Given the description of an element on the screen output the (x, y) to click on. 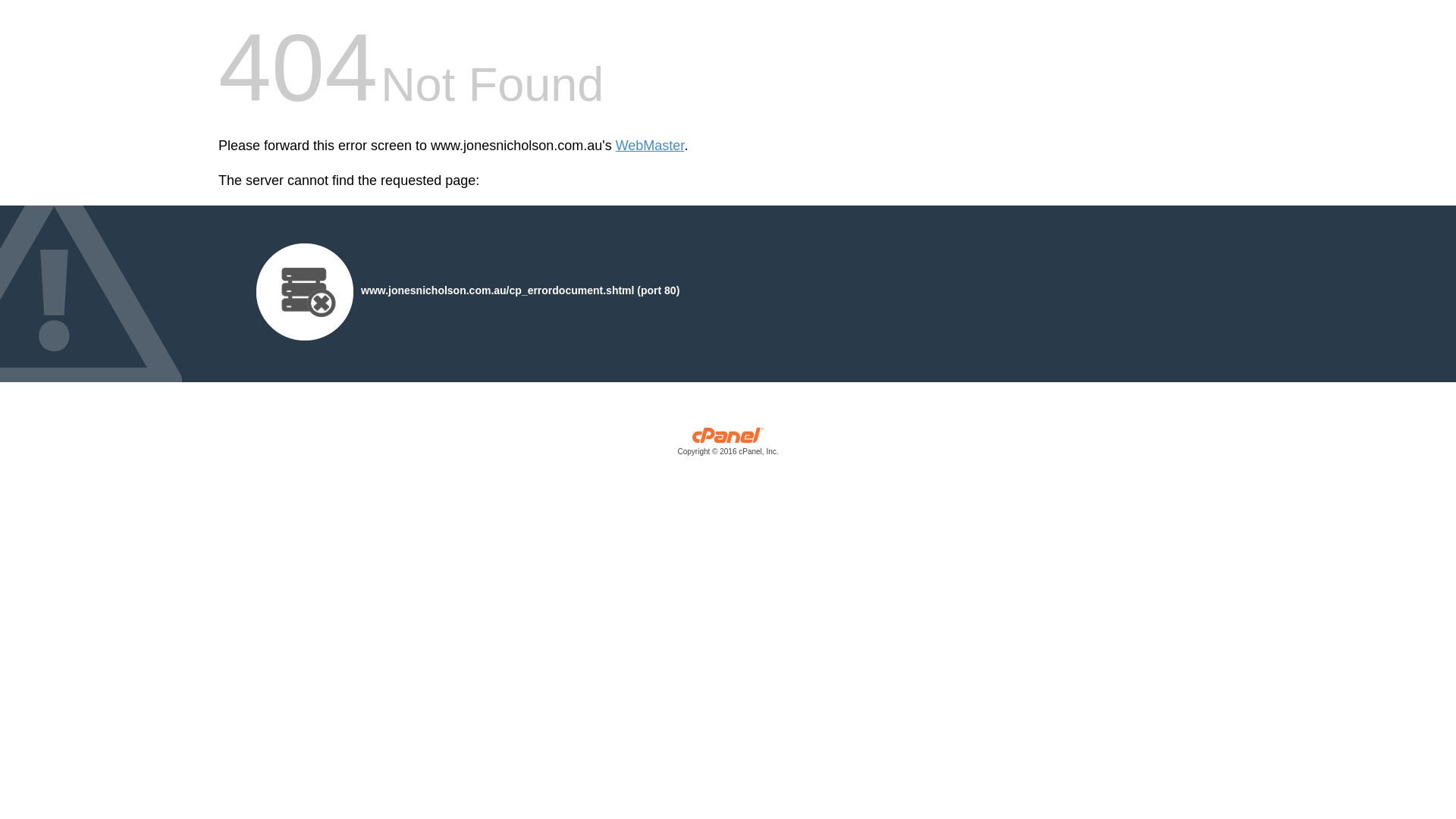
WebMaster Element type: text (649, 145)
